Given the description of an element on the screen output the (x, y) to click on. 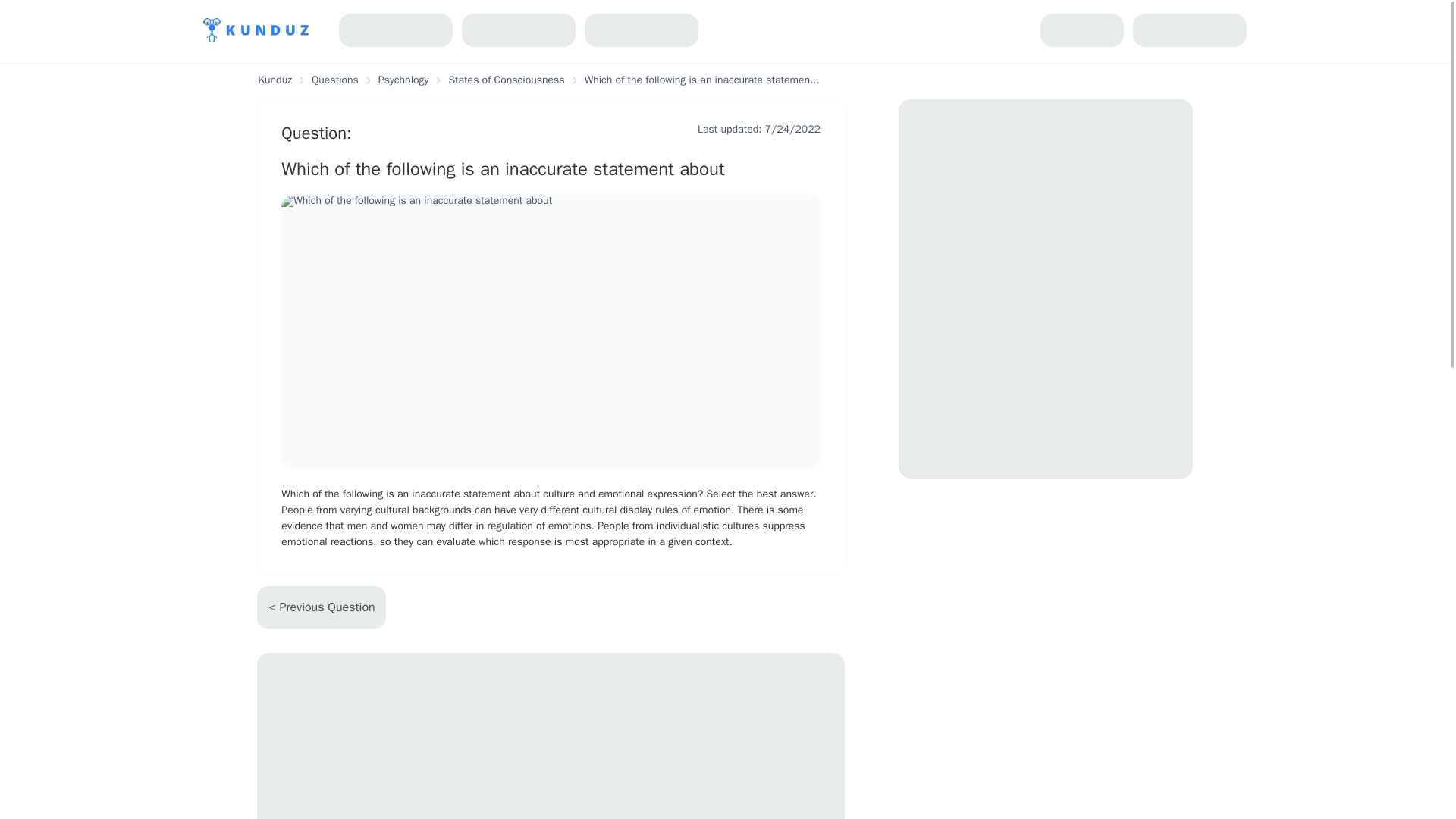
loading (1189, 29)
loading (550, 735)
Questions (335, 80)
Psychology (403, 80)
States of Consciousness (505, 80)
loading (395, 29)
Kunduz (274, 80)
loading (518, 29)
loading (1082, 29)
loading (641, 29)
